Given the description of an element on the screen output the (x, y) to click on. 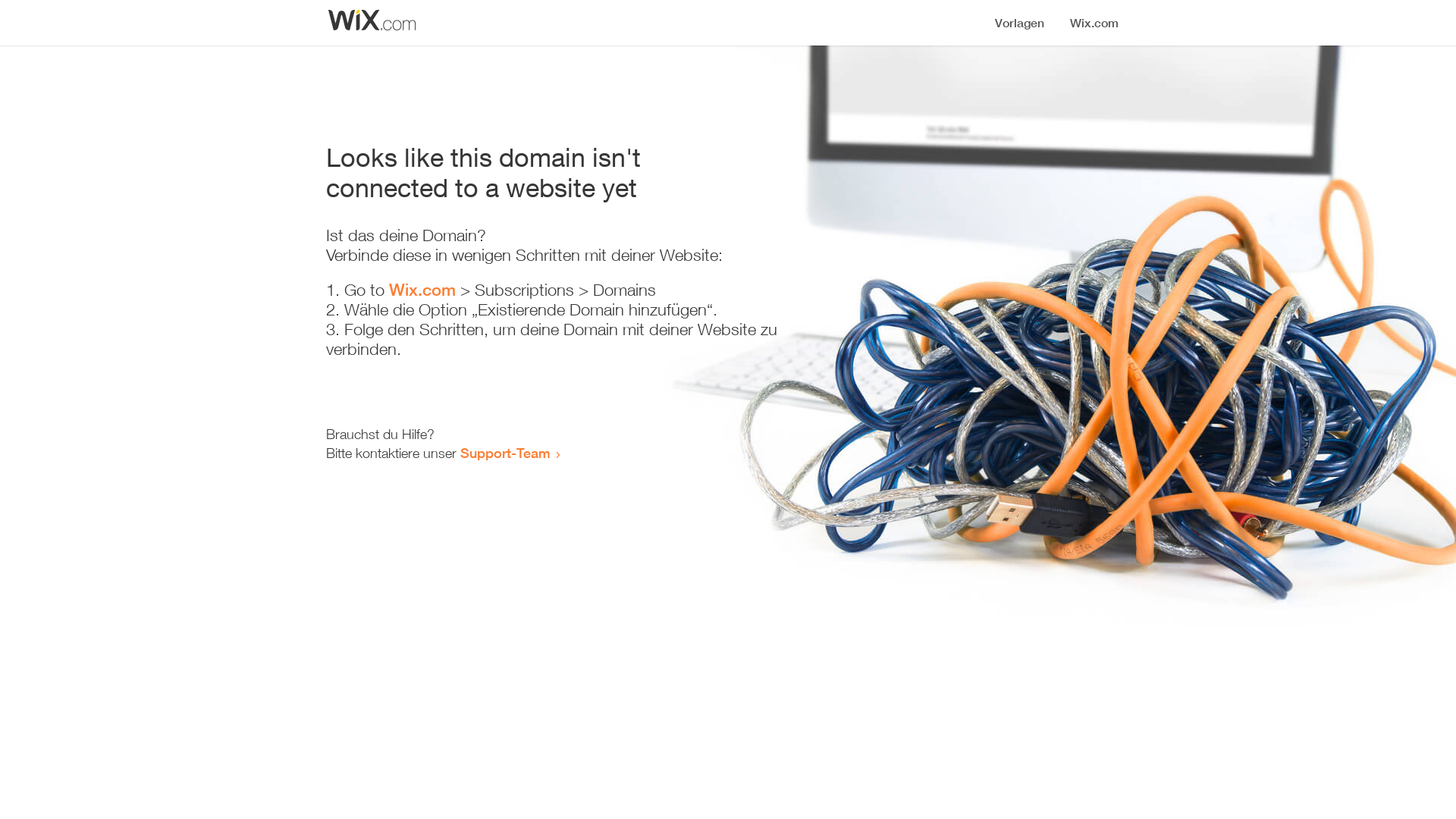
Support-Team Element type: text (505, 452)
Wix.com Element type: text (422, 289)
